Given the description of an element on the screen output the (x, y) to click on. 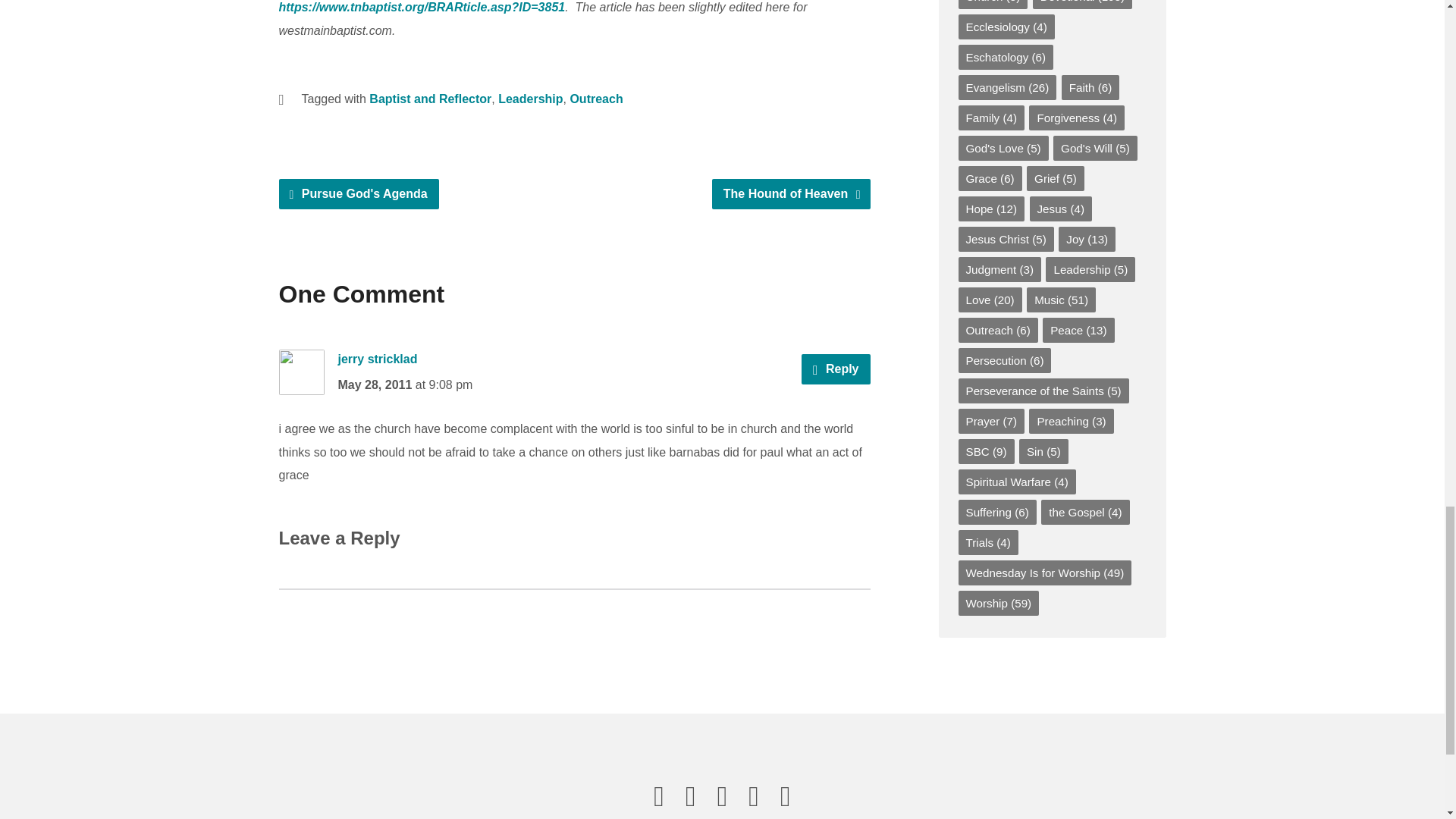
Outreach (596, 98)
Leadership (529, 98)
Reply (835, 368)
Pursue God's Agenda (359, 194)
The Hound of Heaven (790, 194)
jerry stricklad (377, 358)
May 28, 2011 at 9:08 pm (405, 384)
Baptist and Reflector (430, 98)
